Given the description of an element on the screen output the (x, y) to click on. 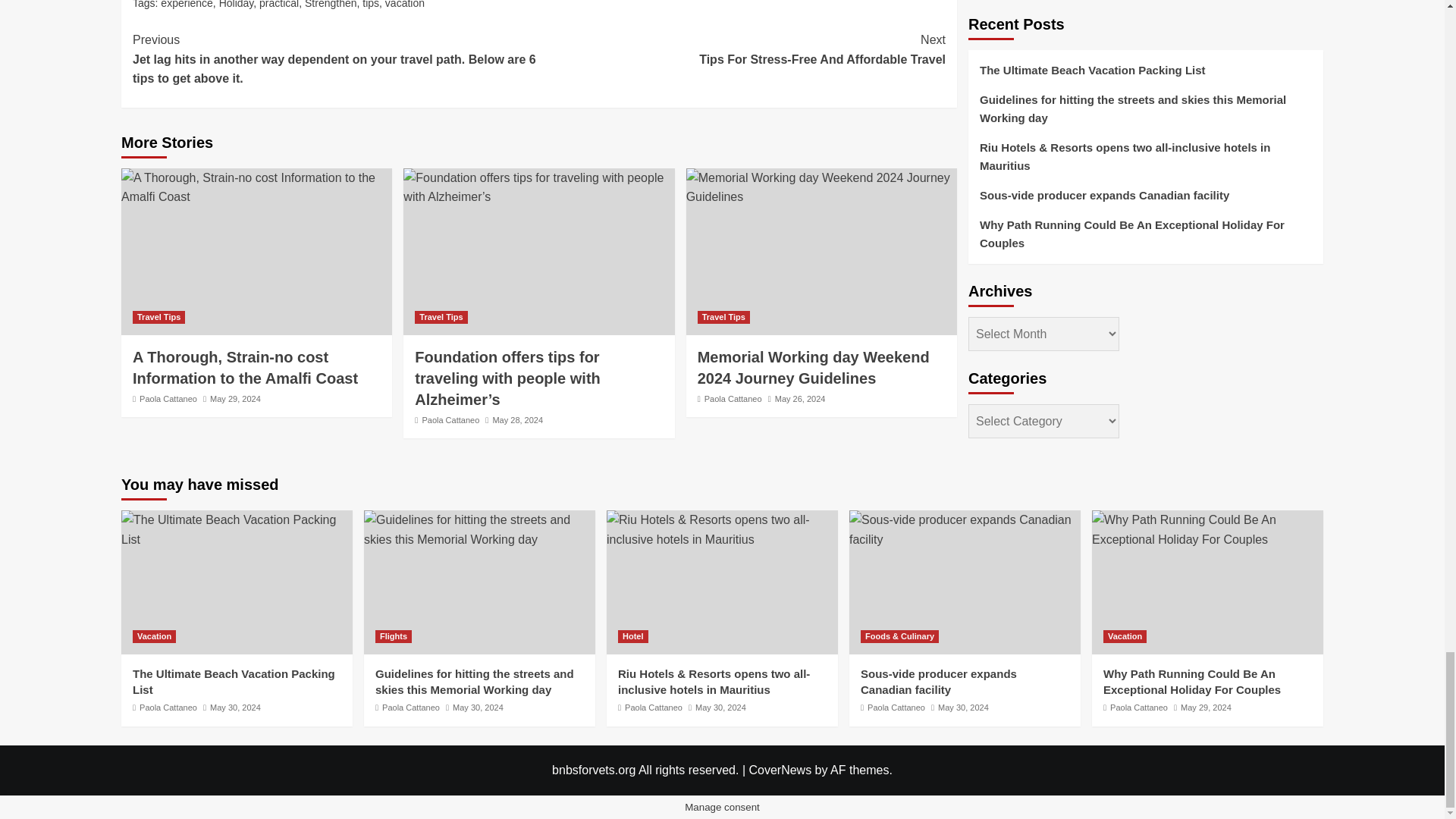
Memorial Working day Weekend 2024 Journey Guidelines (820, 187)
The Ultimate Beach Vacation Packing List (236, 529)
A Thorough, Strain-no cost Information to the Amalfi Coast (255, 187)
